Given the description of an element on the screen output the (x, y) to click on. 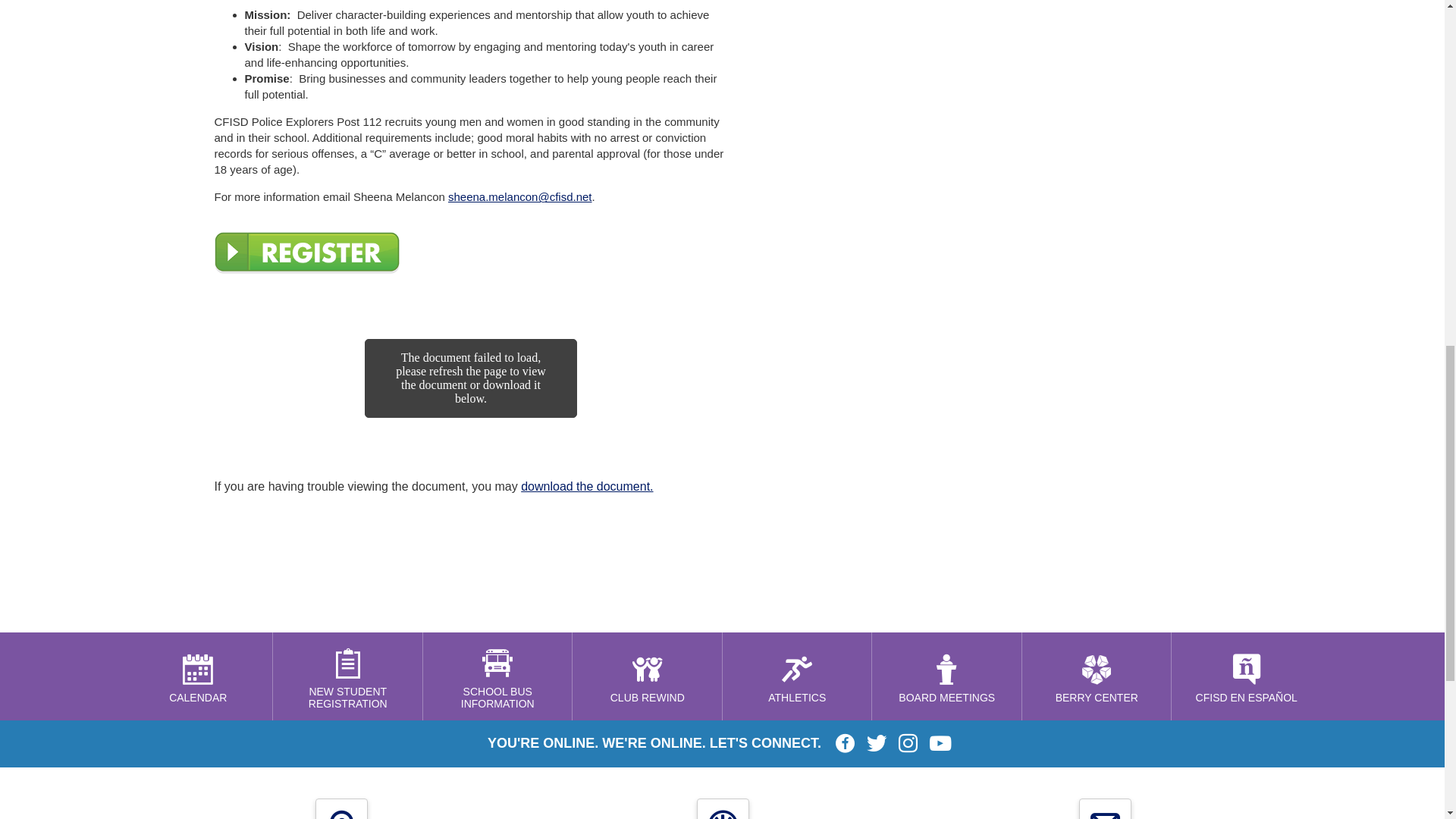
 - Document Viewer (470, 402)
